Given the description of an element on the screen output the (x, y) to click on. 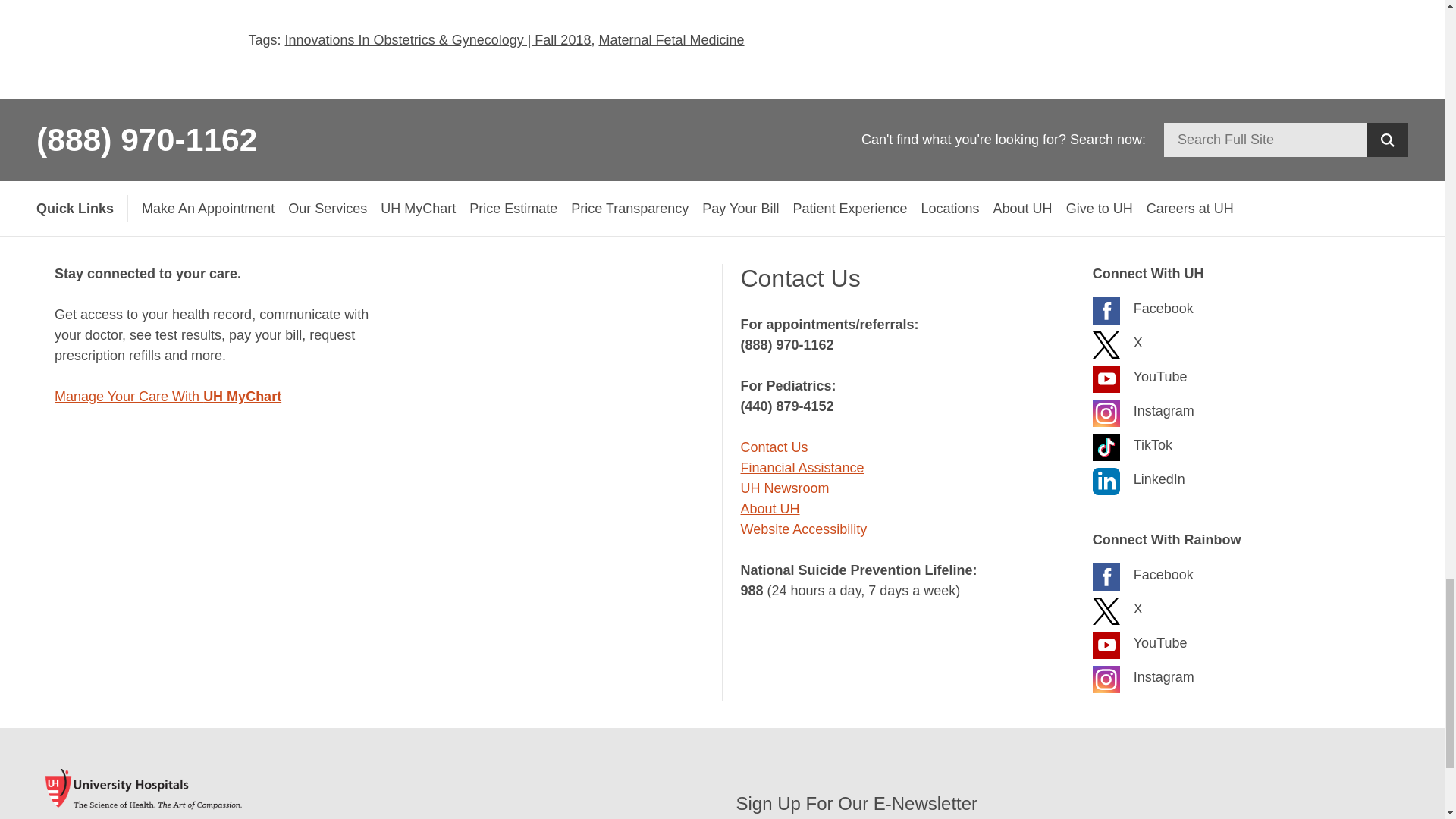
Search (1387, 139)
